Given the description of an element on the screen output the (x, y) to click on. 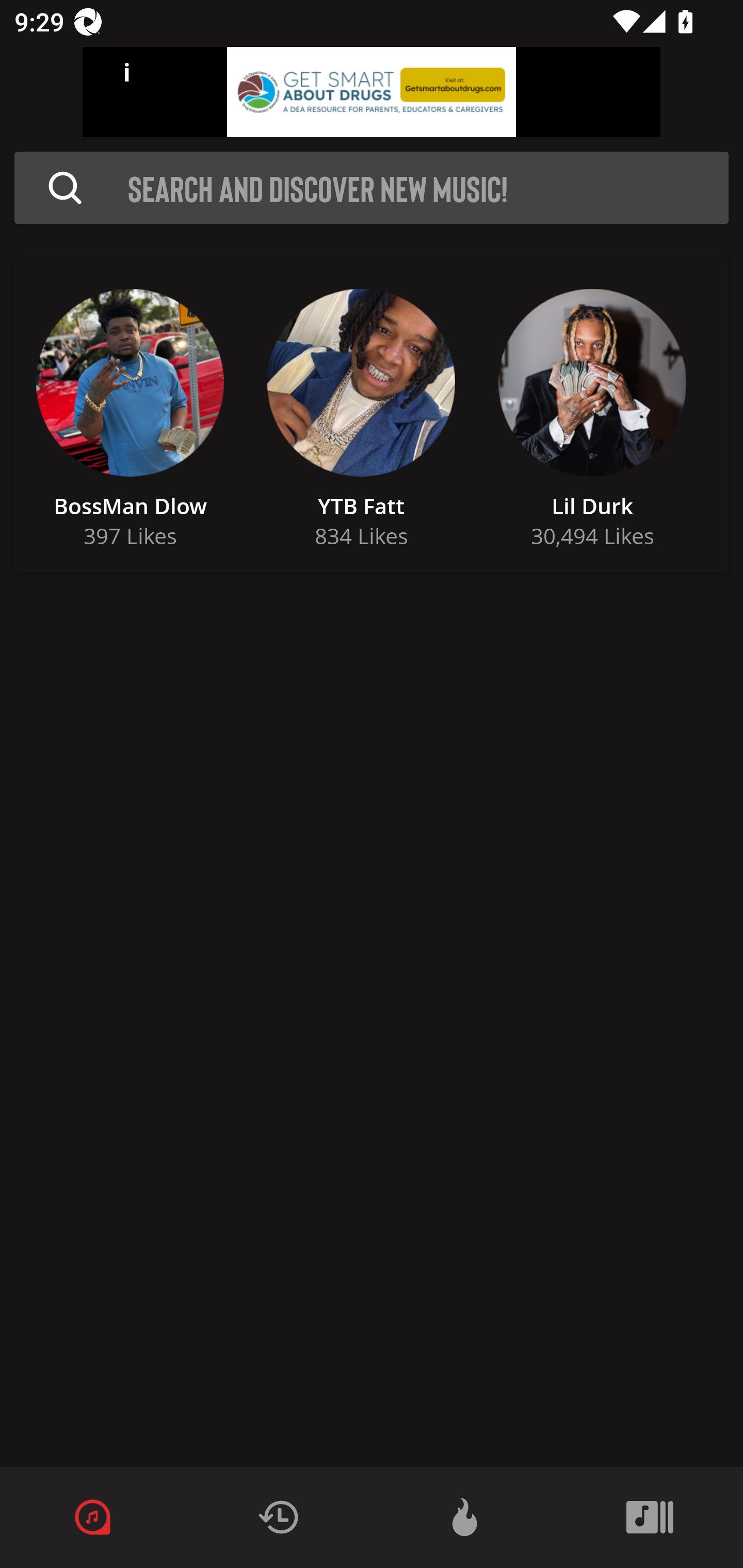
SEARCH AND DISCOVER NEW MUSIC! (427, 188)
Description (64, 188)
Description BossMan Dlow 397 Likes (129, 413)
Description YTB Fatt 834 Likes (360, 413)
Description Lil Durk 30,494 Likes (591, 413)
